Given the description of an element on the screen output the (x, y) to click on. 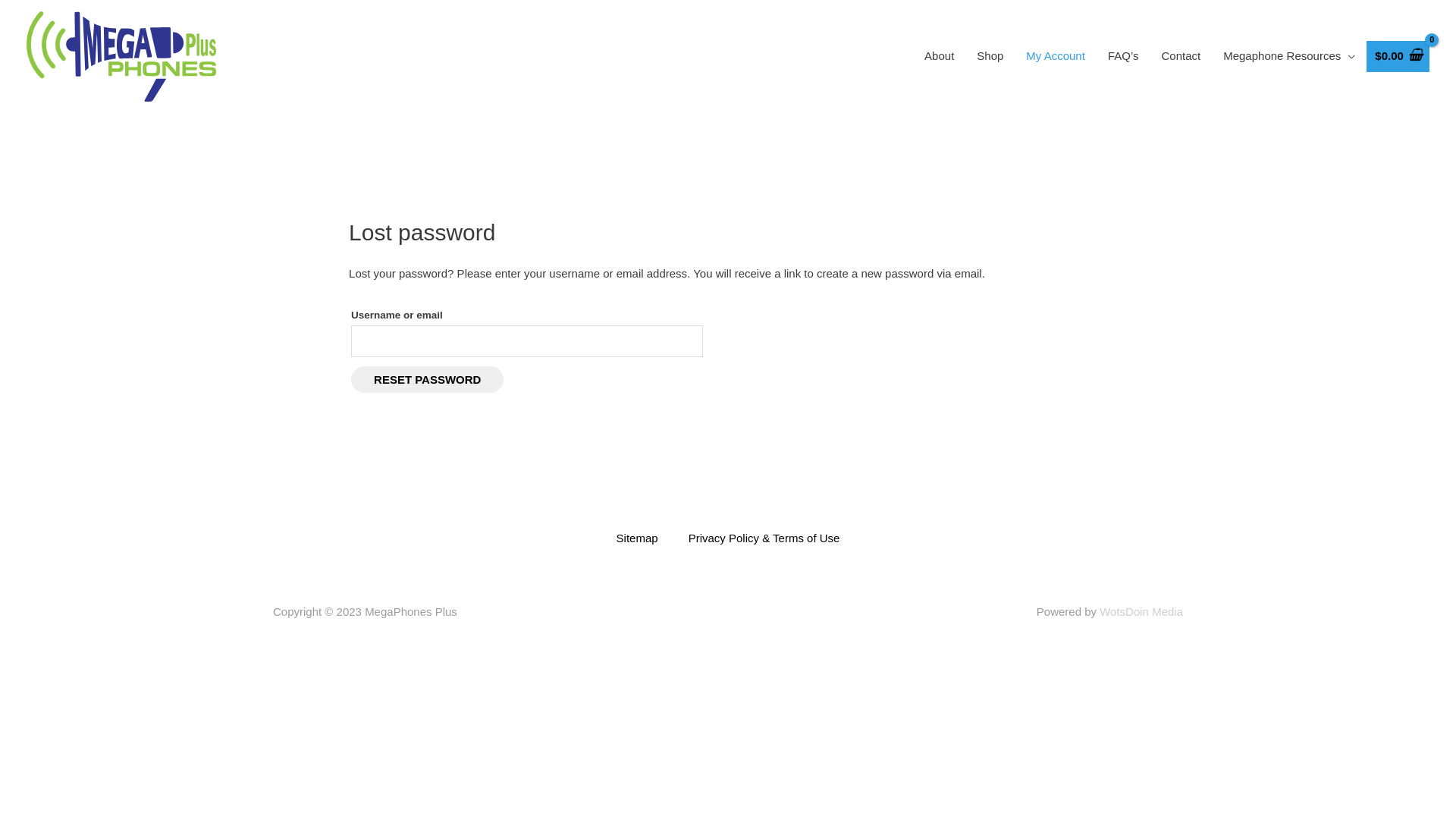
WotsDoin Media Element type: text (1141, 611)
Megaphone Resources Element type: text (1288, 55)
RESET PASSWORD Element type: text (427, 379)
Sitemap Element type: text (637, 537)
My Account Element type: text (1055, 55)
Privacy Policy & Terms of Use Element type: text (764, 537)
Contact Element type: text (1180, 55)
$0.00 Element type: text (1397, 56)
About Element type: text (939, 55)
Shop Element type: text (989, 55)
